Given the description of an element on the screen output the (x, y) to click on. 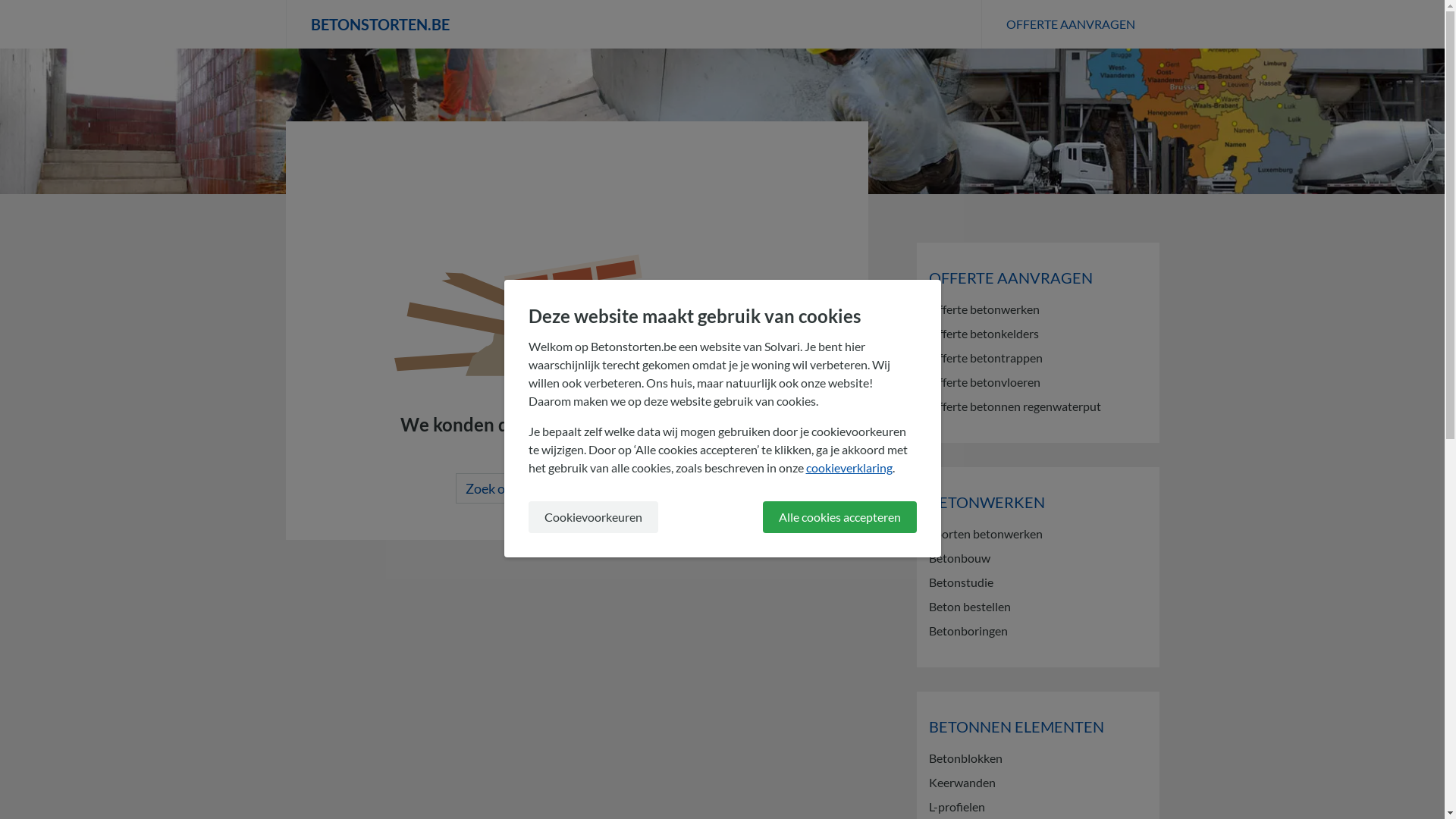
Cookievoorkeuren Element type: text (592, 517)
Betonbouw Element type: text (1037, 558)
OFFERTE AANVRAGEN Element type: text (1070, 24)
Offerte betonkelders Element type: text (1037, 333)
Beton bestellen Element type: text (1037, 606)
Betonstudie Element type: text (1037, 582)
cookieverklaring Element type: text (848, 467)
Offerte betonwerken Element type: text (1037, 309)
Alle cookies accepteren Element type: text (839, 517)
Soorten betonwerken Element type: text (1037, 533)
BETONSTORTEN.BE Element type: text (632, 24)
Betonboringen Element type: text (1037, 630)
Offerte betonnen regenwaterput Element type: text (1037, 406)
Offerte betonvloeren Element type: text (1037, 382)
Betonblokken Element type: text (1037, 758)
Keerwanden Element type: text (1037, 782)
Offerte betontrappen Element type: text (1037, 357)
